Given the description of an element on the screen output the (x, y) to click on. 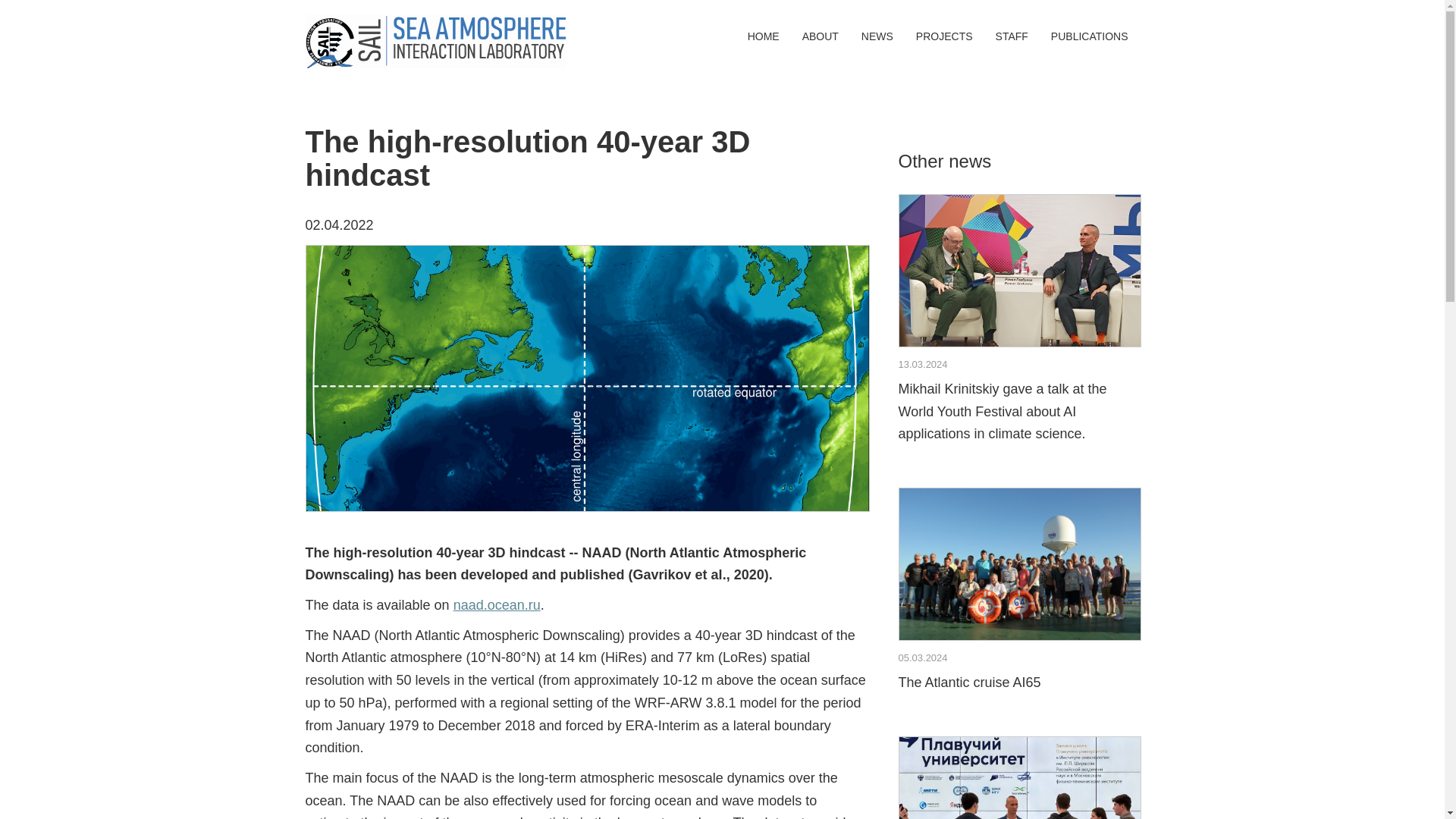
PROJECTS (943, 36)
NEWS (877, 36)
HOME (1018, 594)
ABOUT (763, 36)
PUBLICATIONS (820, 36)
STAFF (1089, 36)
naad.ocean.ru (1011, 36)
Other news (496, 604)
